Given the description of an element on the screen output the (x, y) to click on. 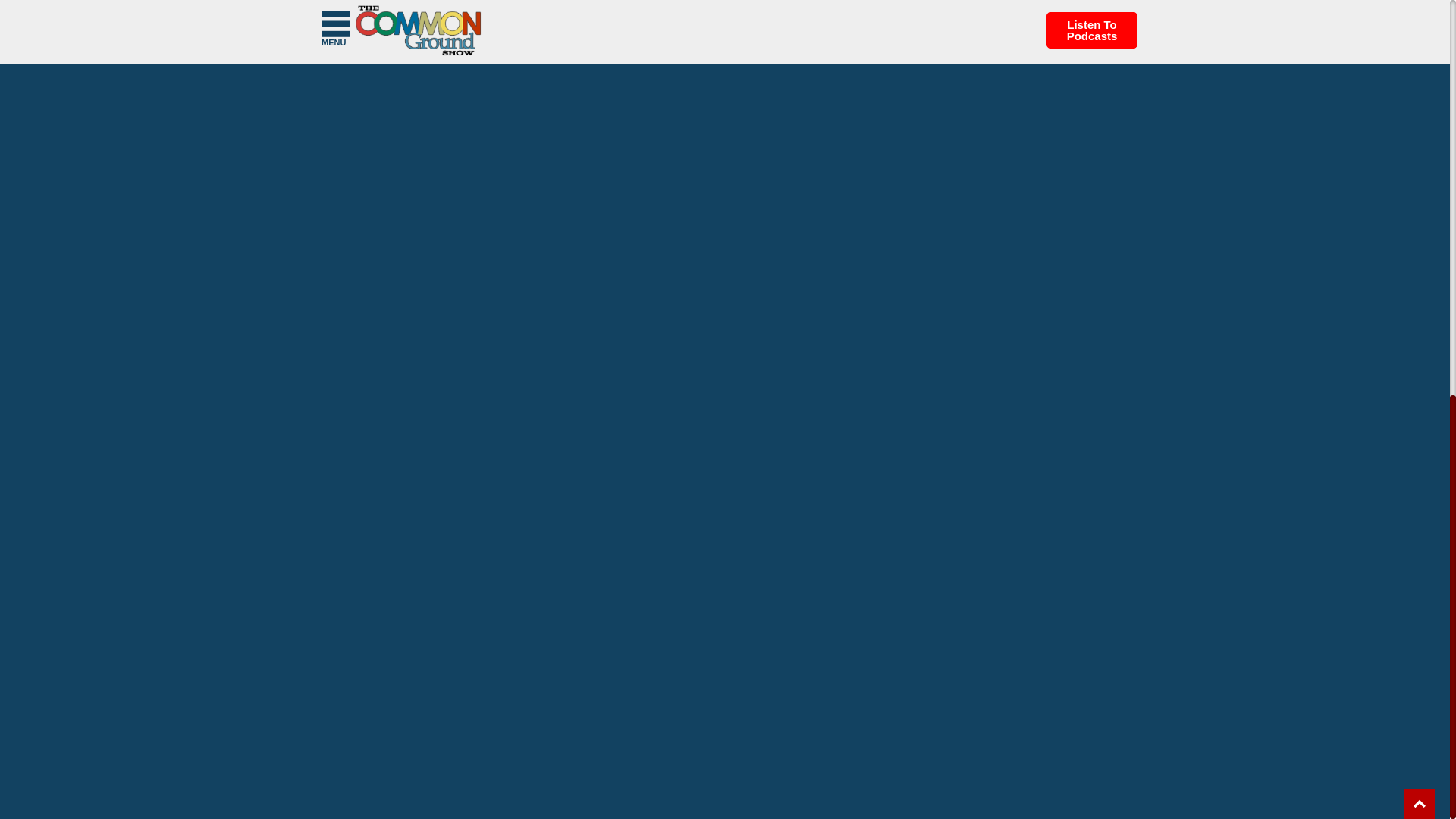
Contact Us (346, 15)
Links (332, 4)
